Given the description of an element on the screen output the (x, y) to click on. 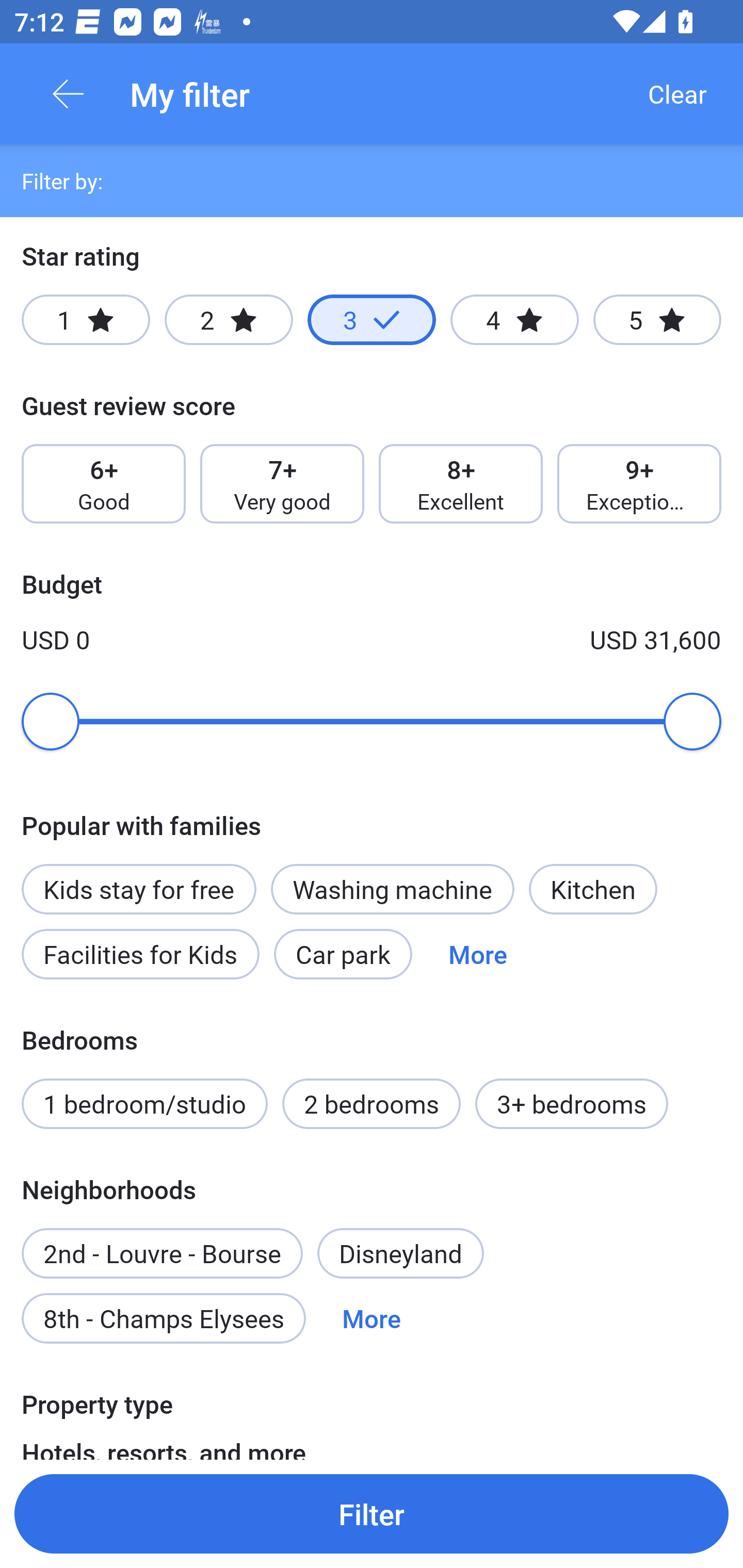
Clear (676, 93)
1 (85, 319)
2 (228, 319)
4 (514, 319)
5 (657, 319)
6+ Good (103, 483)
7+ Very good (281, 483)
8+ Excellent (460, 483)
9+ Exceptional (639, 483)
Kids stay for free (138, 878)
Washing machine (392, 888)
Kitchen (593, 888)
Facilities for Kids (140, 954)
Car park (343, 954)
More (477, 954)
1 bedroom/studio (144, 1103)
2 bedrooms (371, 1103)
3+ bedrooms (571, 1103)
2nd - Louvre - Bourse (162, 1242)
Disneyland (400, 1253)
8th - Champs Elysees (163, 1317)
More (371, 1317)
Filter (371, 1513)
